Given the description of an element on the screen output the (x, y) to click on. 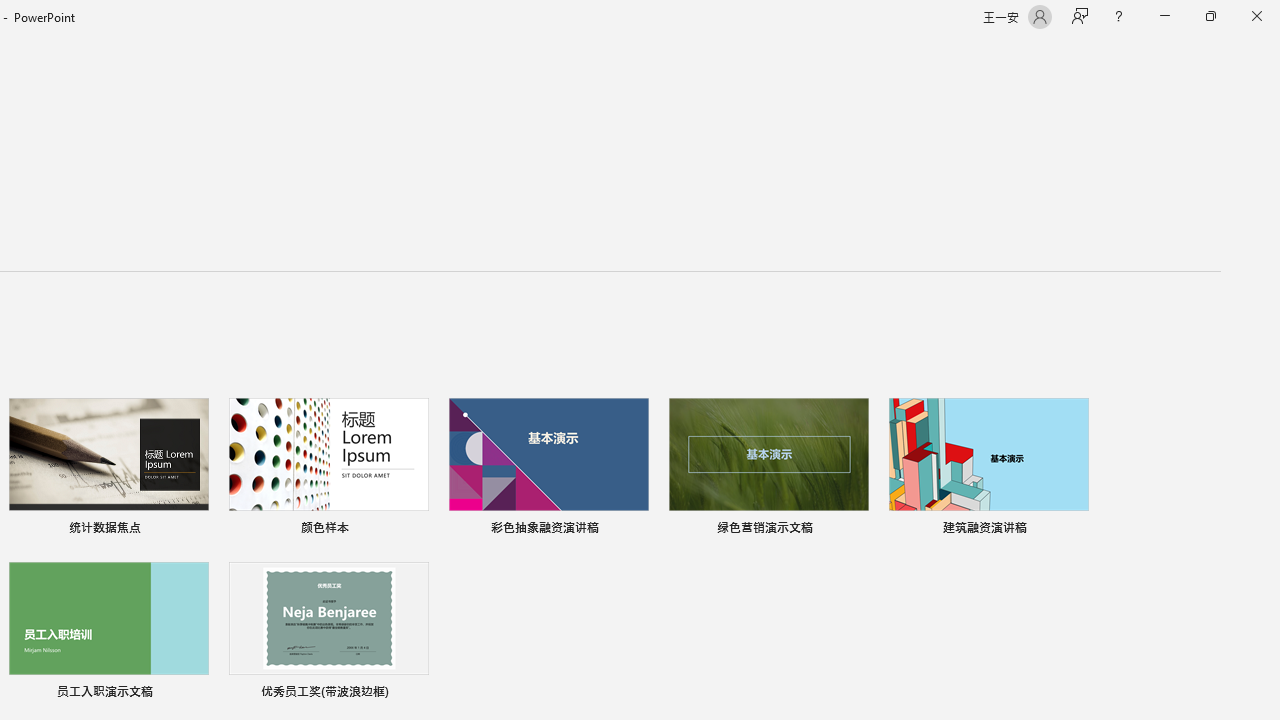
Pin to list (415, 693)
